Given the description of an element on the screen output the (x, y) to click on. 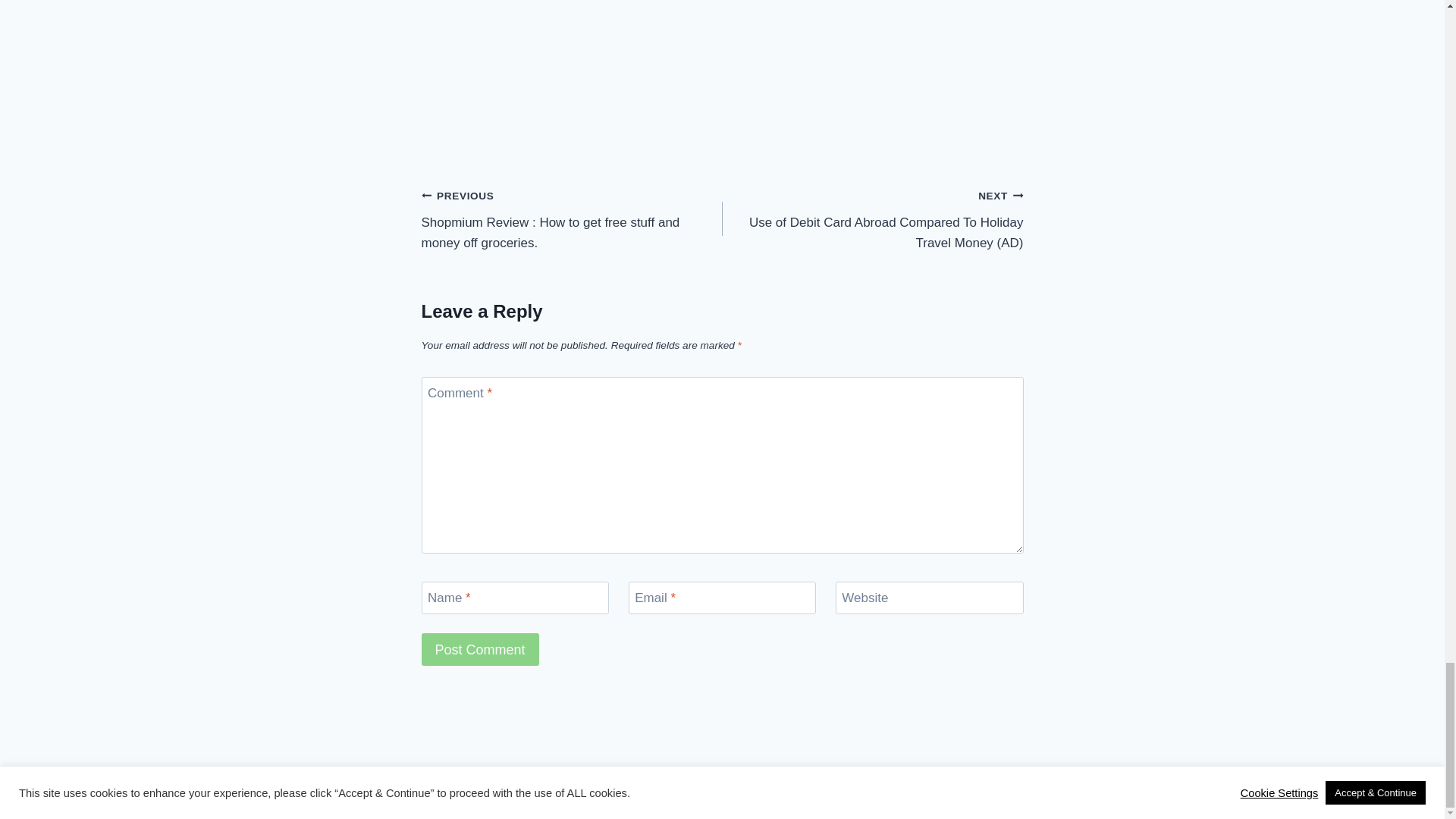
Kadence WP (812, 771)
Post Comment (480, 649)
Post Comment (480, 649)
